Given the description of an element on the screen output the (x, y) to click on. 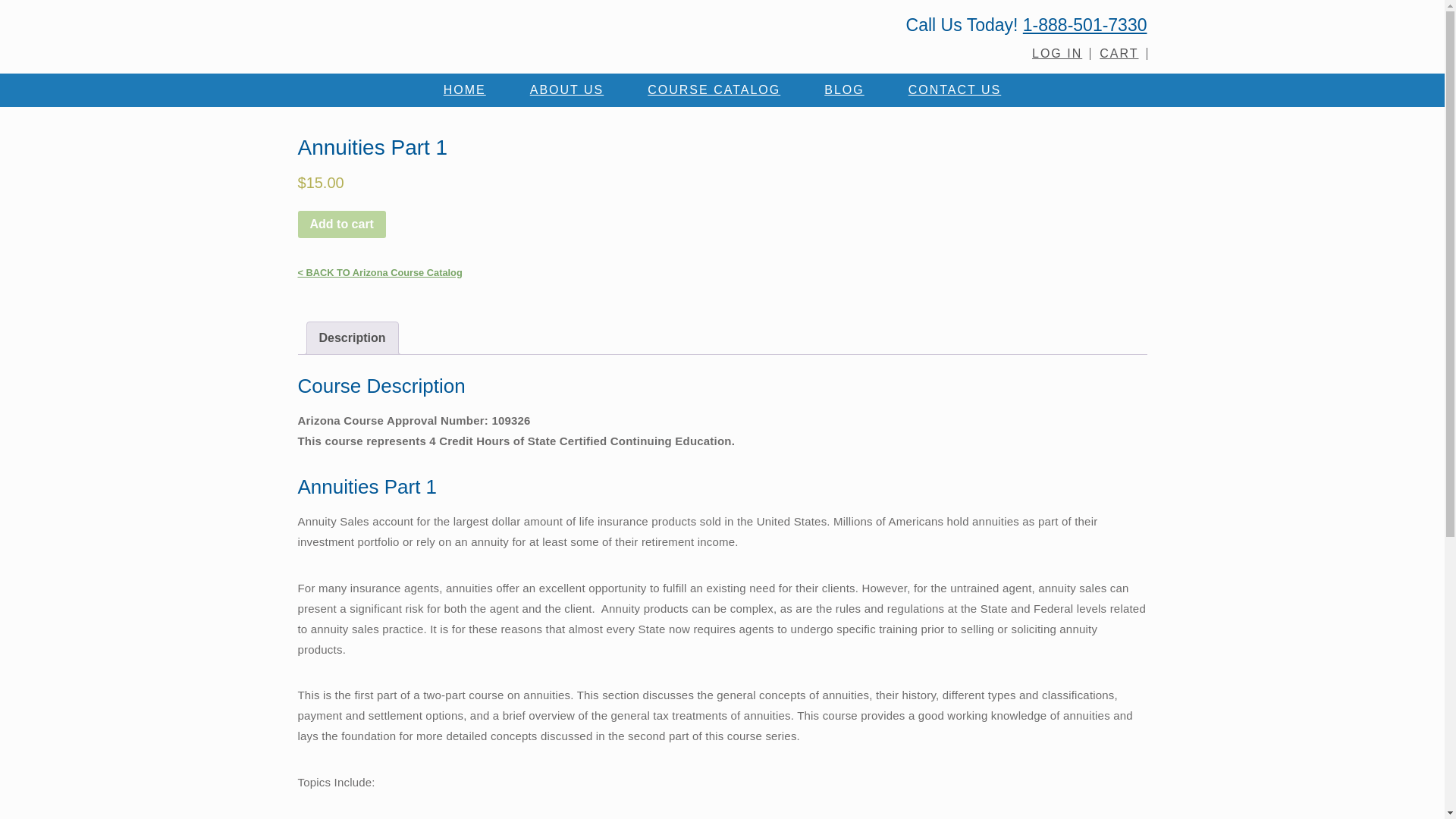
CART (1119, 53)
BLOG (844, 90)
1-888-501-7330 (1085, 25)
BetterCE (500, 33)
COURSE CATALOG (714, 90)
Add to cart (341, 224)
LOG IN (1057, 53)
Description (351, 337)
ABOUT US (567, 90)
HOME (464, 90)
CONTACT US (954, 90)
